Given the description of an element on the screen output the (x, y) to click on. 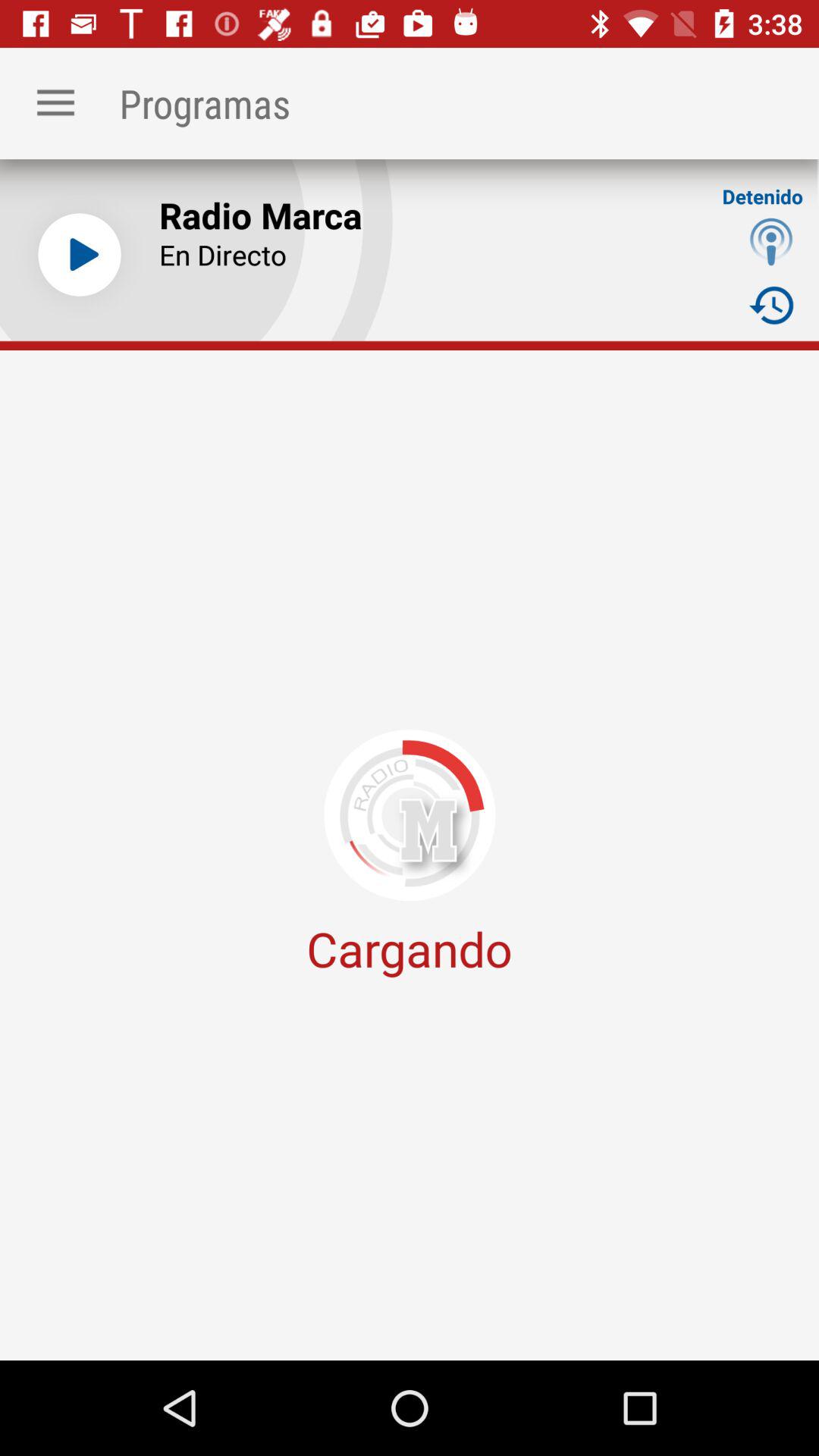
open icon next to the programas (55, 103)
